Given the description of an element on the screen output the (x, y) to click on. 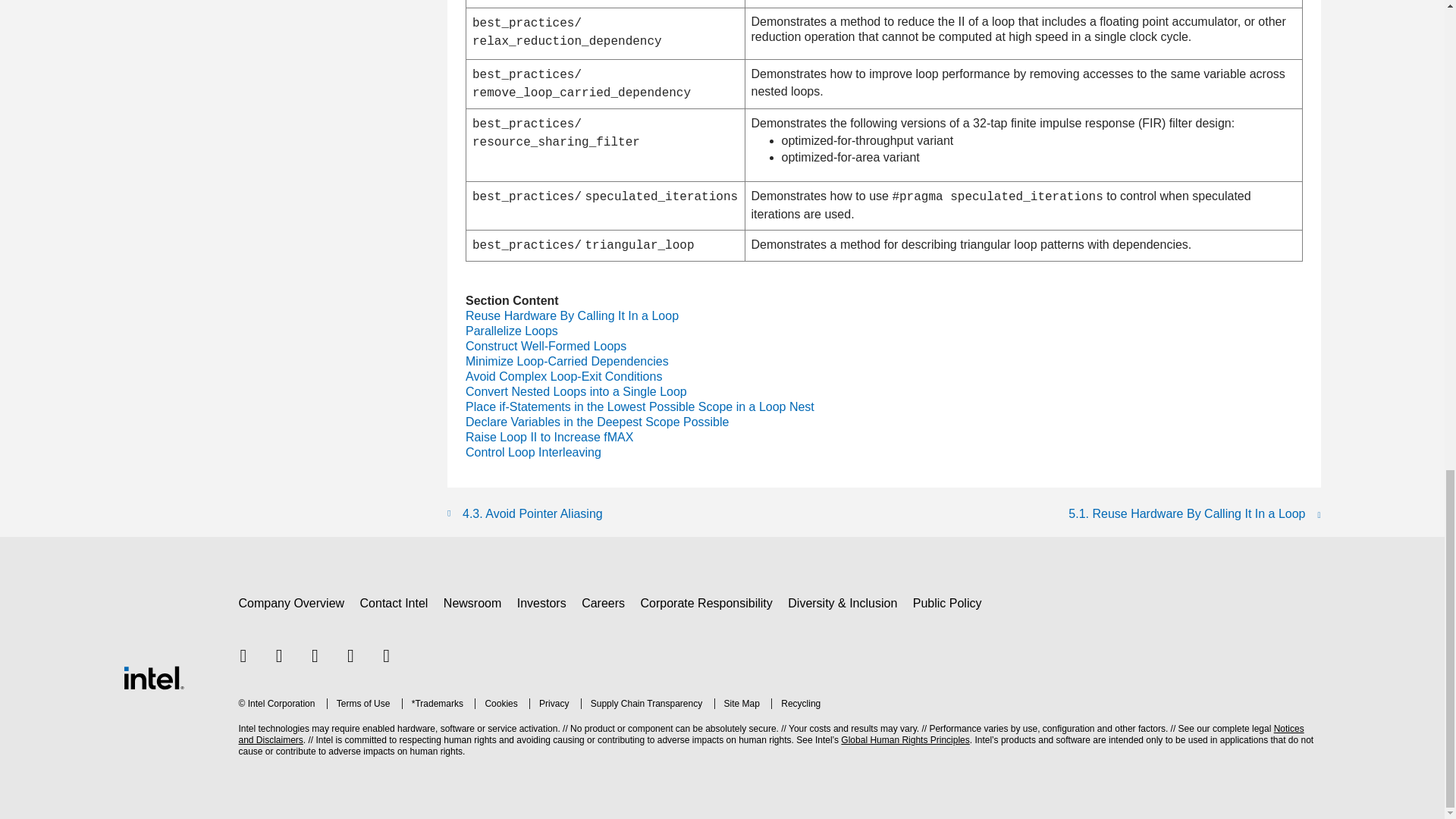
Intel Footer Logo (152, 676)
